Given the description of an element on the screen output the (x, y) to click on. 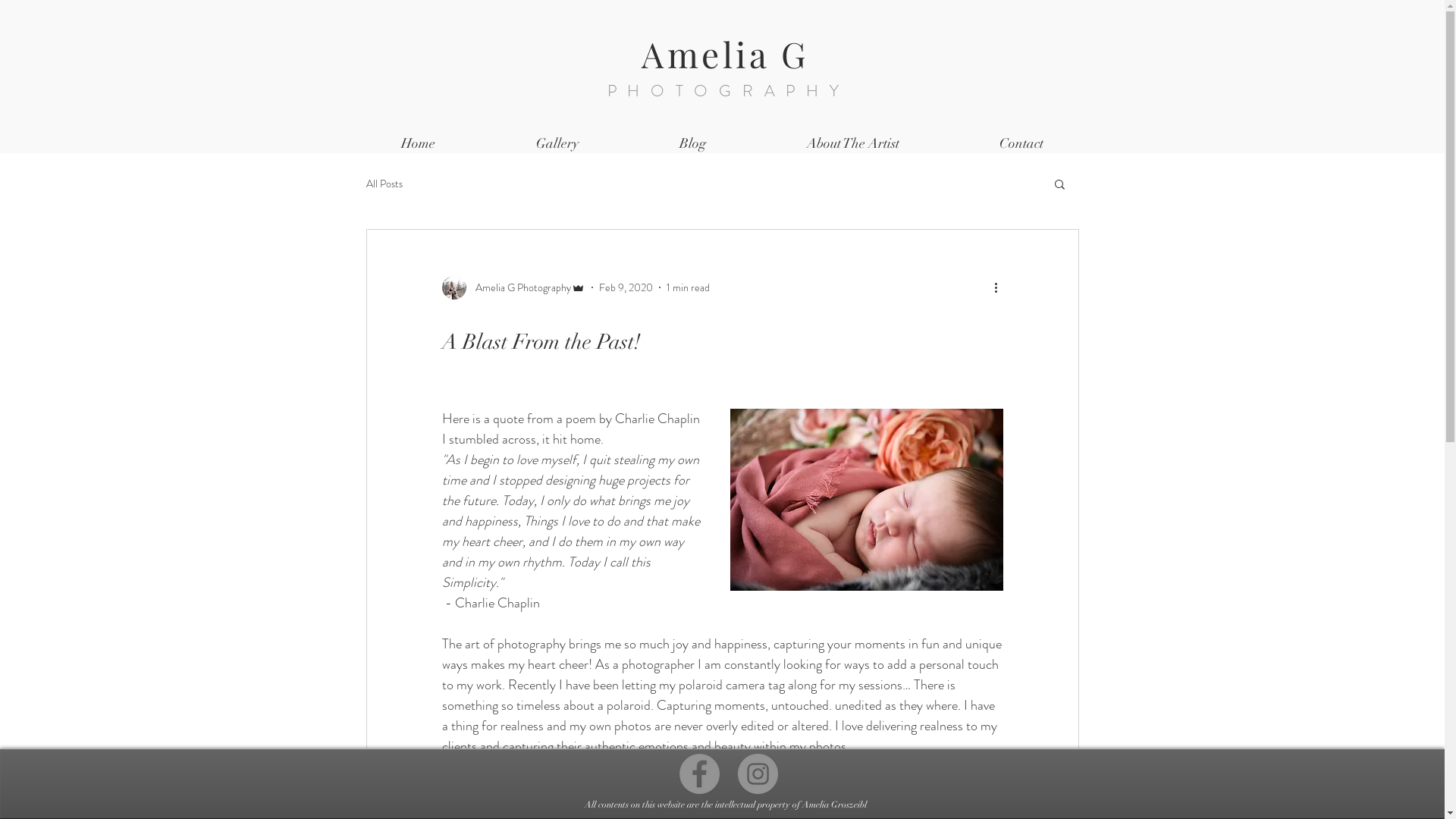
PHOTOGRAPHY Element type: text (728, 90)
Amelia G Photography Element type: text (512, 287)
Contact Element type: text (1021, 143)
All Posts Element type: text (383, 183)
Home Element type: text (417, 143)
About The Artist Element type: text (852, 143)
Gallery Element type: text (556, 143)
Amelia G Element type: text (725, 53)
Blog Element type: text (692, 143)
